Given the description of an element on the screen output the (x, y) to click on. 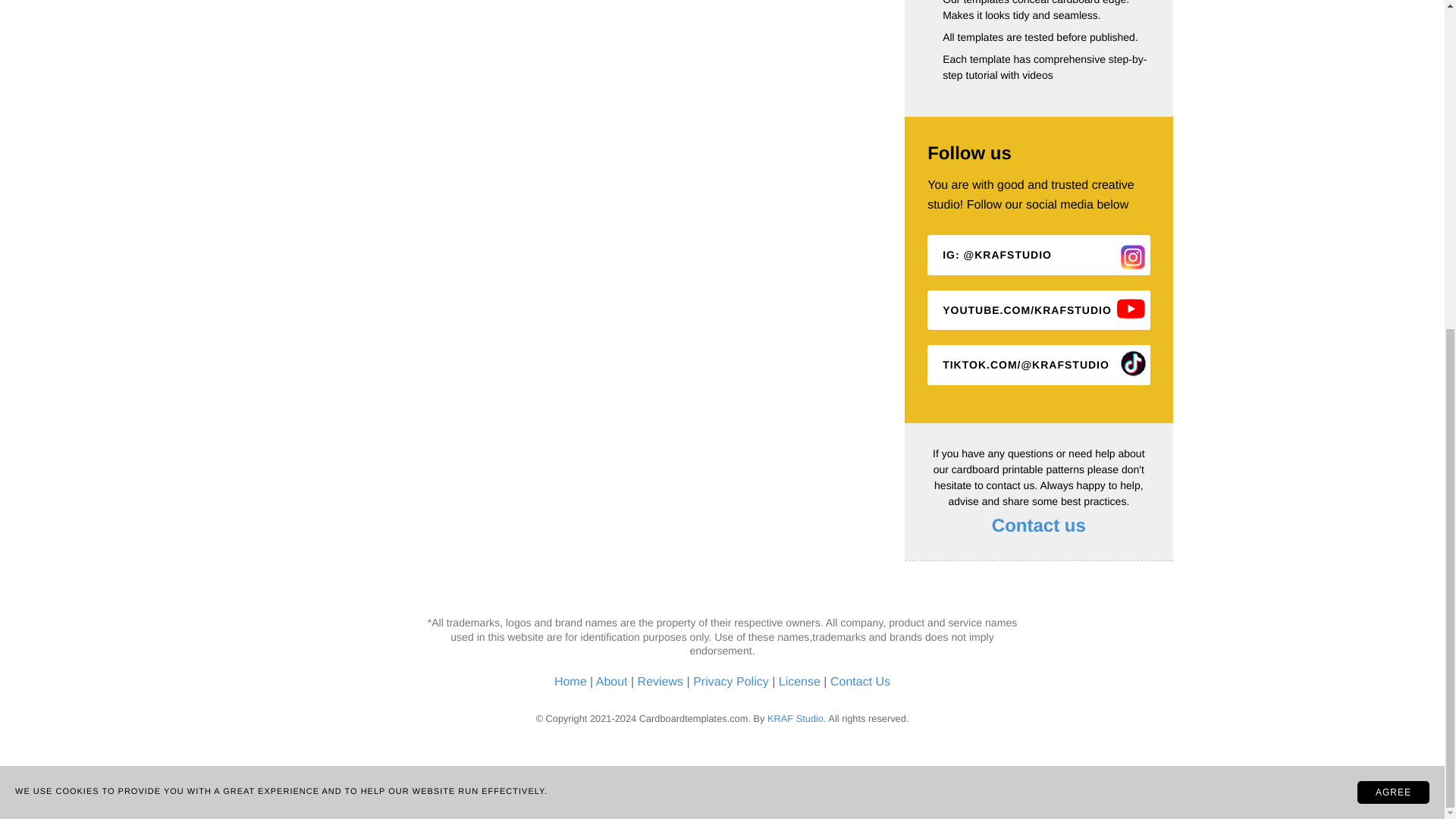
AGREE (1392, 249)
